Given the description of an element on the screen output the (x, y) to click on. 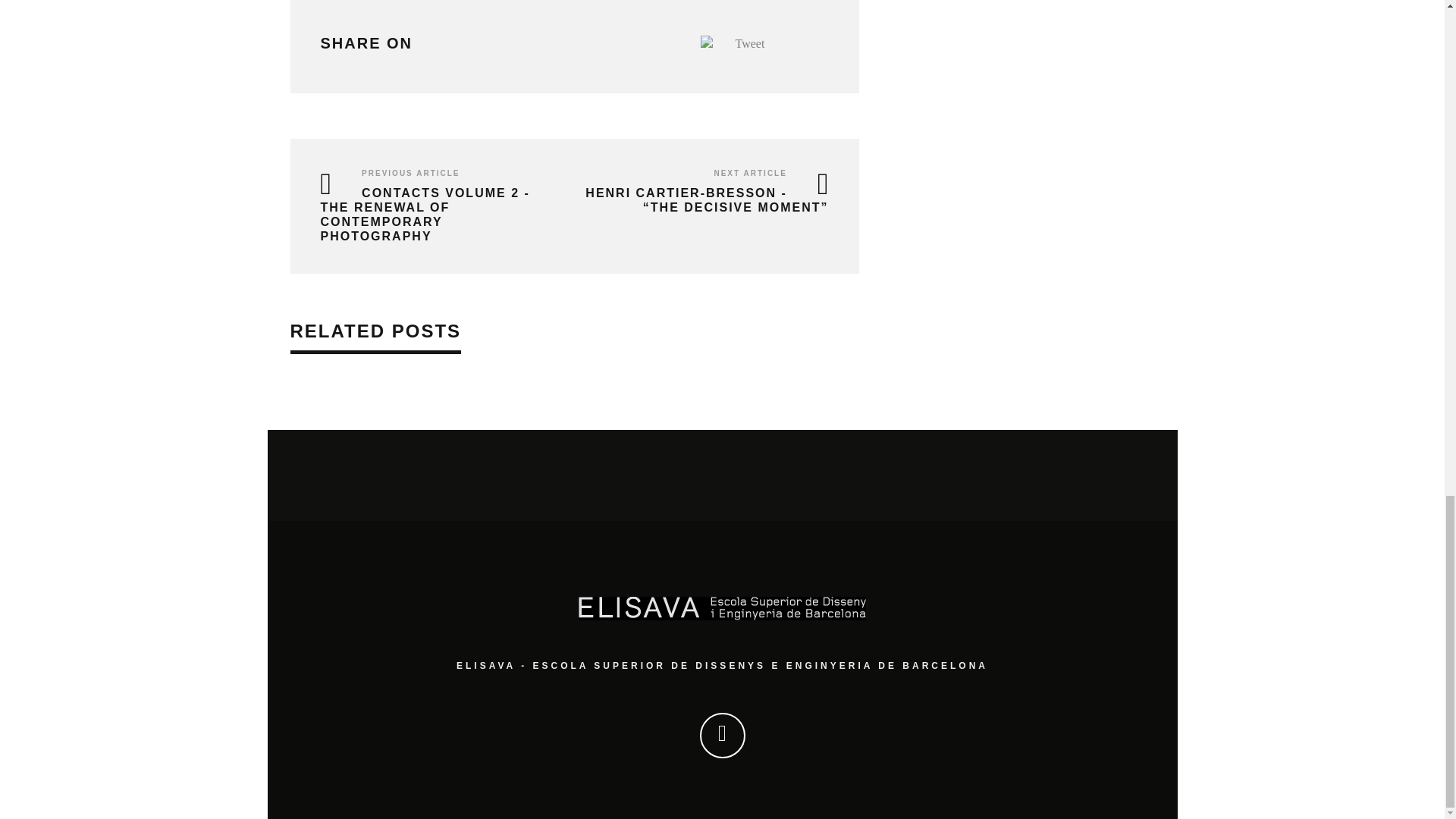
PREVIOUS ARTICLE (410, 172)
CONTACTS VOLUME 2 - THE RENEWAL OF CONTEMPORARY PHOTOGRAPHY (424, 214)
Tweet (750, 42)
NEXT ARTICLE (749, 172)
